Given the description of an element on the screen output the (x, y) to click on. 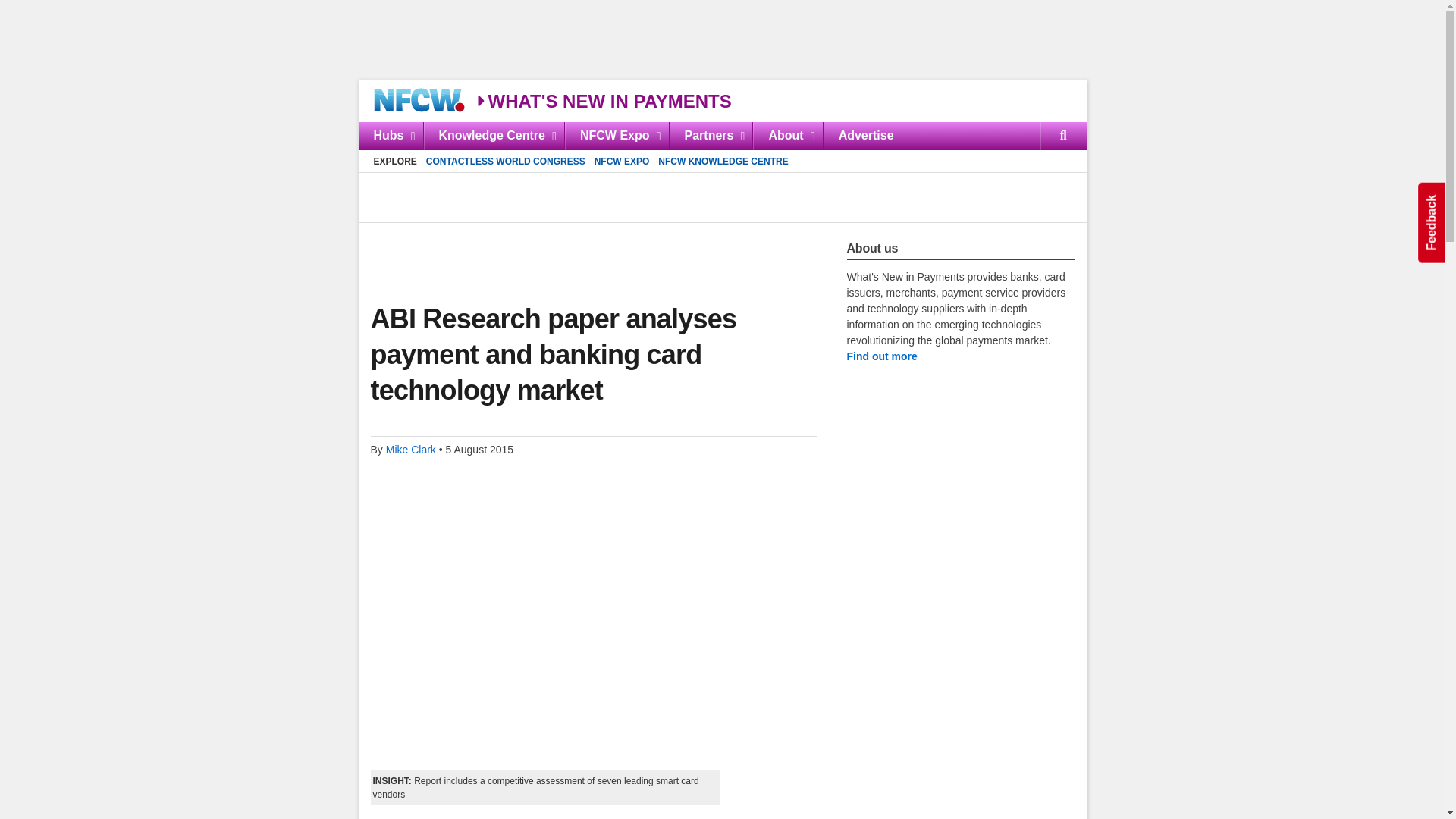
NFCW Expo (616, 135)
Knowledge Centre (493, 135)
Partners (710, 135)
5 August 2015, 13:25 BST (479, 449)
WHAT'S NEW IN PAYMENTS (603, 100)
